Given the description of an element on the screen output the (x, y) to click on. 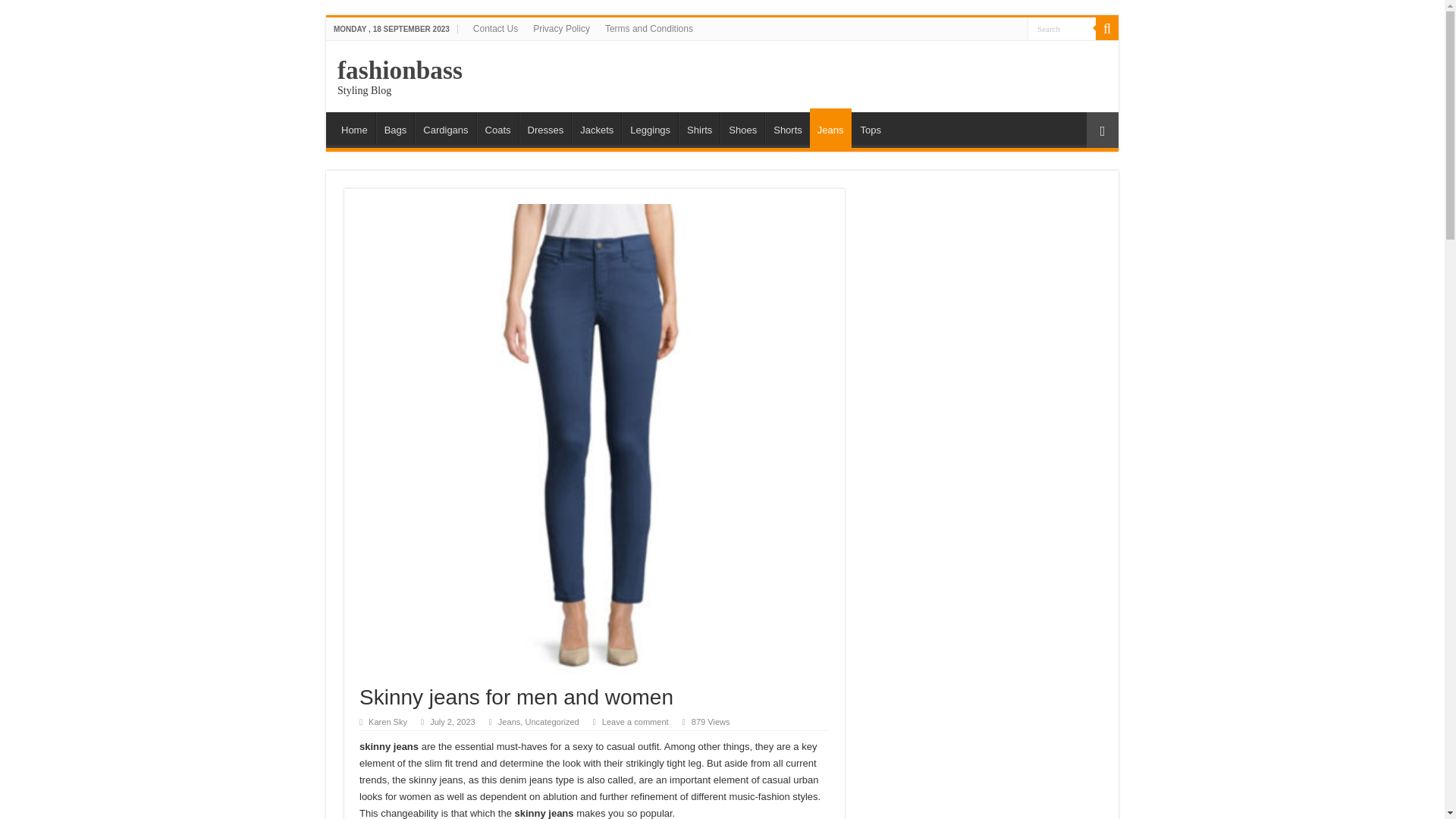
Privacy Policy (560, 28)
Shirts (698, 128)
Karen Sky (387, 721)
Jeans (508, 721)
Contact Us (495, 28)
Cardigans (445, 128)
Search (1061, 28)
Uncategorized (551, 721)
Dresses (545, 128)
Tops (869, 128)
Bags (394, 128)
Shoes (742, 128)
Search (1061, 28)
Jackets (596, 128)
